Given the description of an element on the screen output the (x, y) to click on. 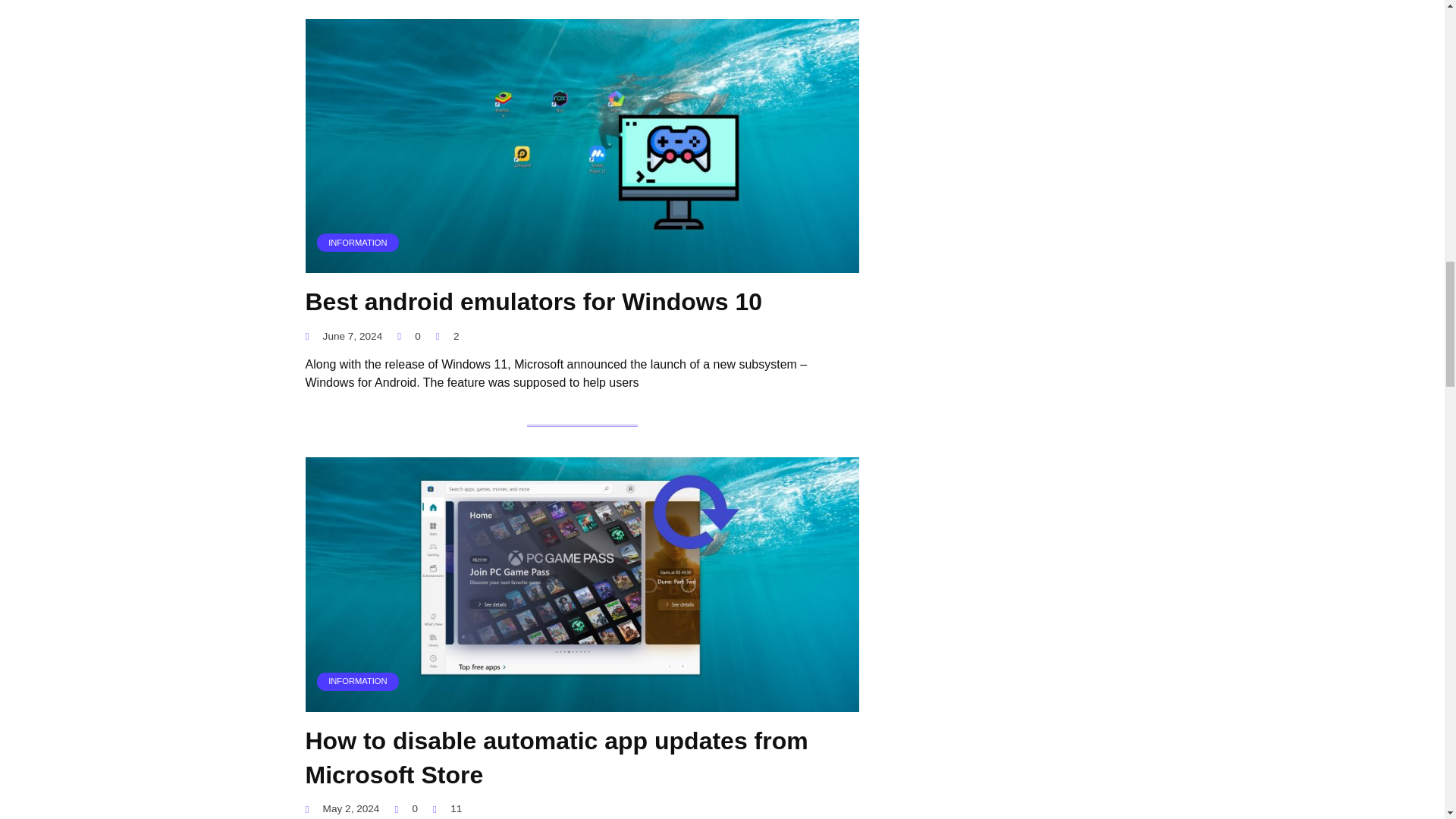
How to disable automatic app updates from Microsoft Store (556, 757)
INFORMATION (581, 263)
INFORMATION (581, 702)
Best android emulators for Windows 10 (532, 301)
